Given the description of an element on the screen output the (x, y) to click on. 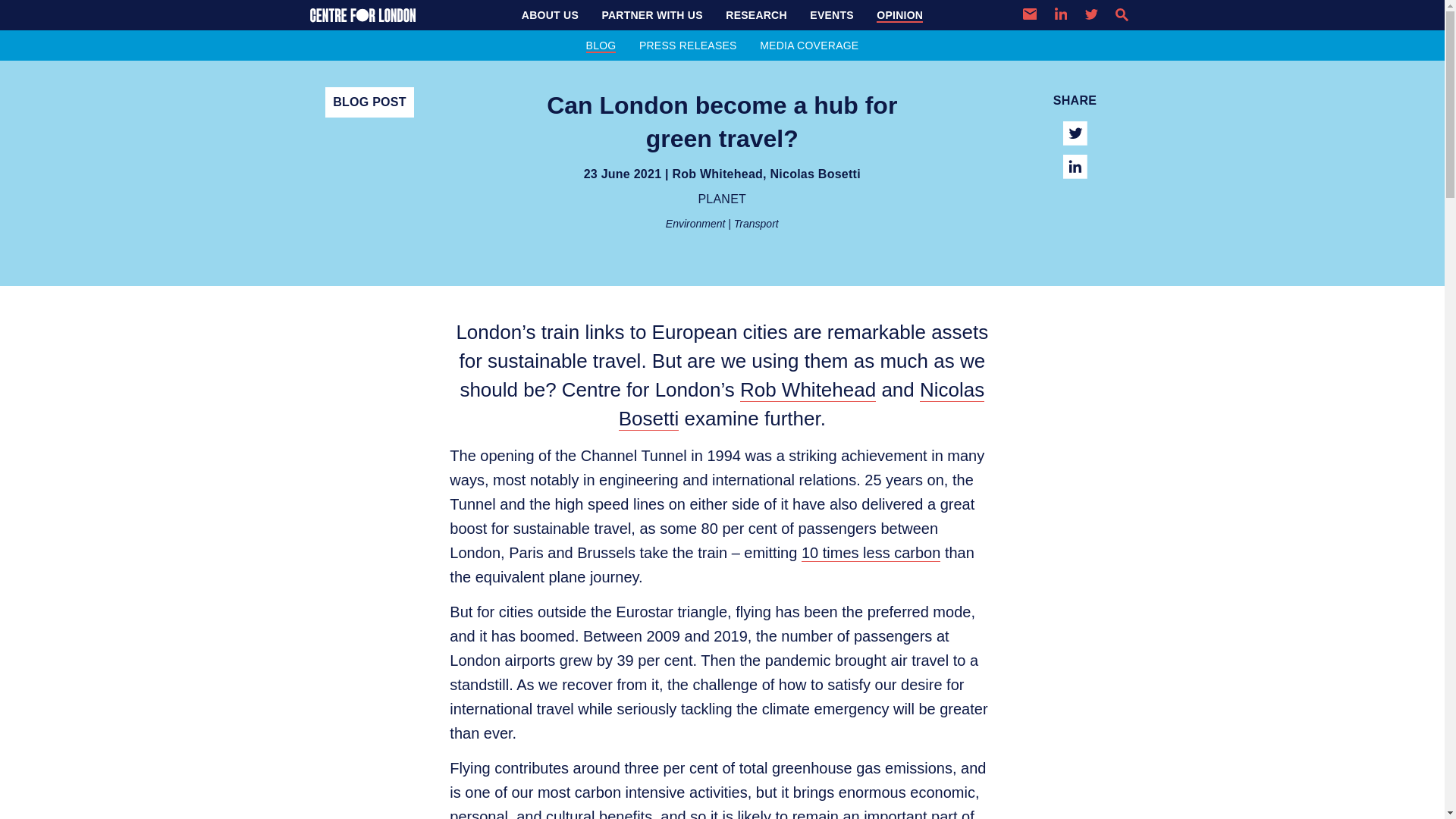
ABOUT US (550, 15)
Rob Whitehead (716, 173)
PARTNER WITH US (651, 15)
RESEARCH (756, 15)
MEDIA COVERAGE (808, 45)
Search for content tagged as Environment (695, 223)
Transport (755, 223)
Search for content tagged as Transport (755, 223)
EVENTS (831, 15)
Nicolas Bosetti (815, 173)
BLOG (601, 45)
OPINION (899, 15)
PRESS RELEASES (687, 45)
Environment (695, 223)
